Given the description of an element on the screen output the (x, y) to click on. 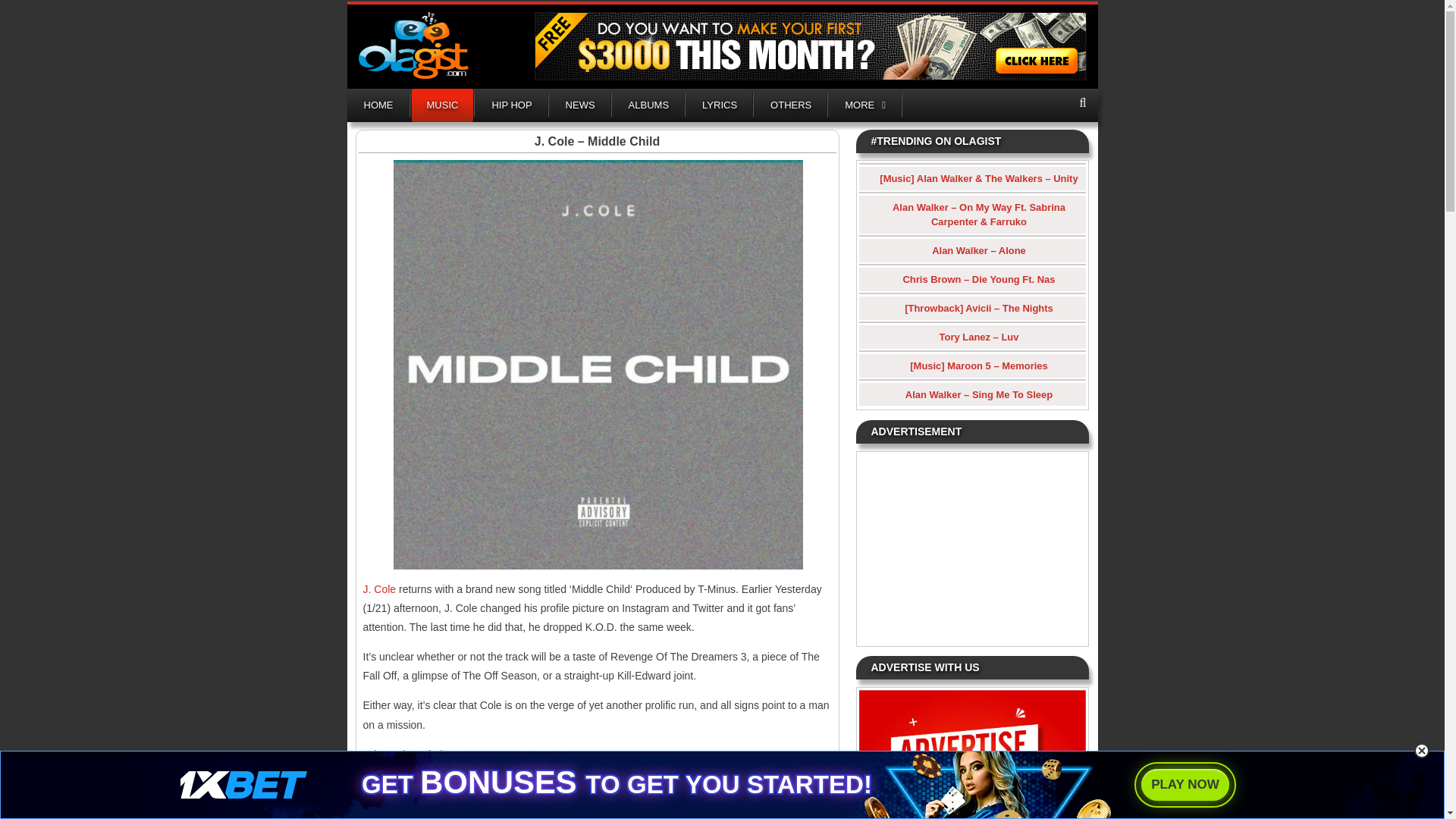
Play (382, 779)
LYRICS (719, 105)
MORE (865, 105)
MUSIC (441, 105)
OTHERS (791, 105)
ALBUMS (648, 105)
HOME (379, 105)
J. Cole (379, 588)
HIP HOP (511, 105)
NEWS (580, 105)
Mute (769, 779)
